Given the description of an element on the screen output the (x, y) to click on. 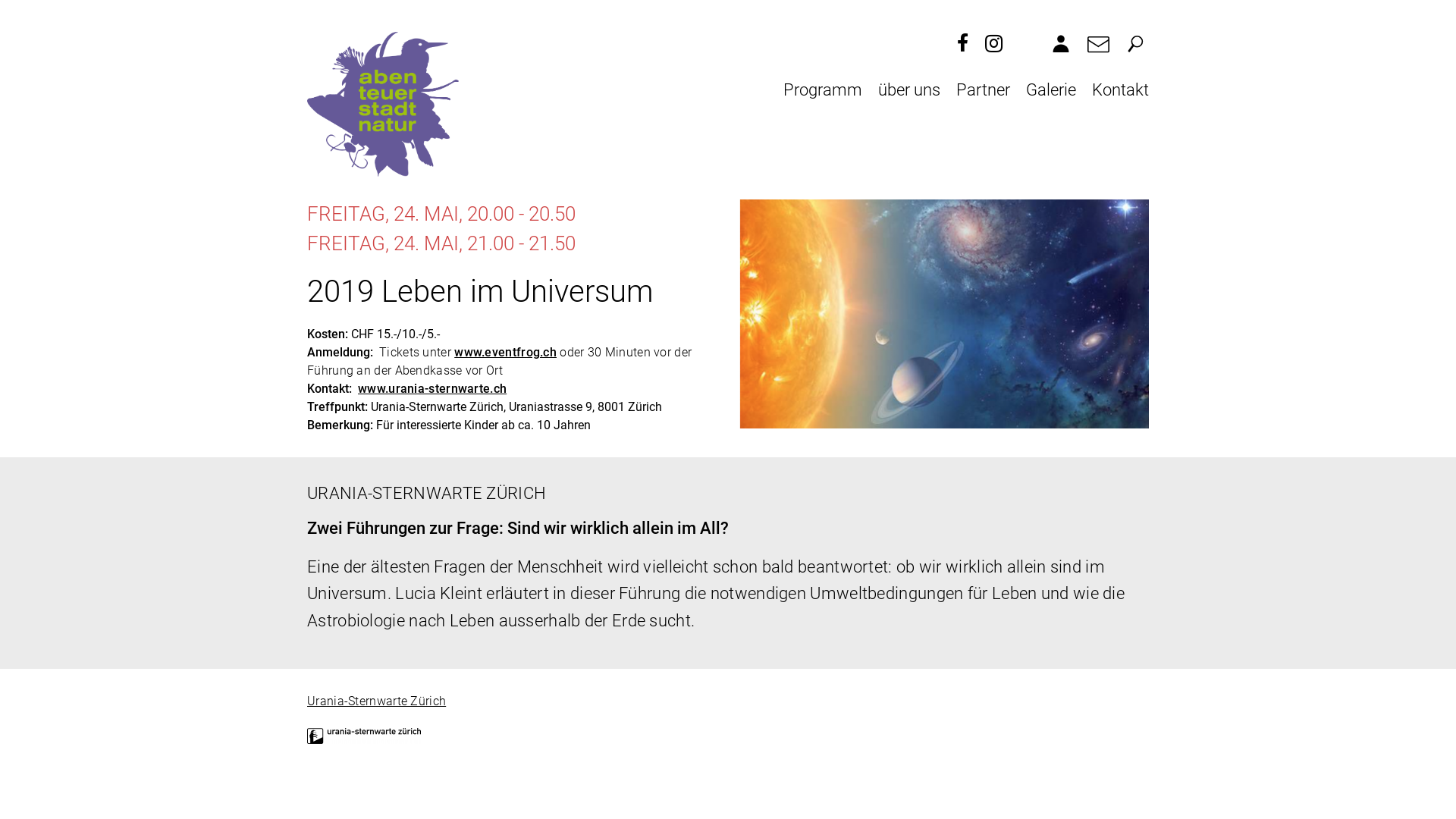
www.urania-sternwarte.ch Element type: text (431, 388)
Partner Element type: text (983, 89)
  Element type: text (965, 39)
Galerie Element type: text (1051, 89)
  Element type: text (996, 39)
Direkt zum Inhalt Element type: text (57, 0)
Programm Element type: text (822, 89)
www.eventfrog.ch Element type: text (505, 352)
Startseite Element type: hover (382, 103)
Kontakt Element type: text (1120, 89)
